Given the description of an element on the screen output the (x, y) to click on. 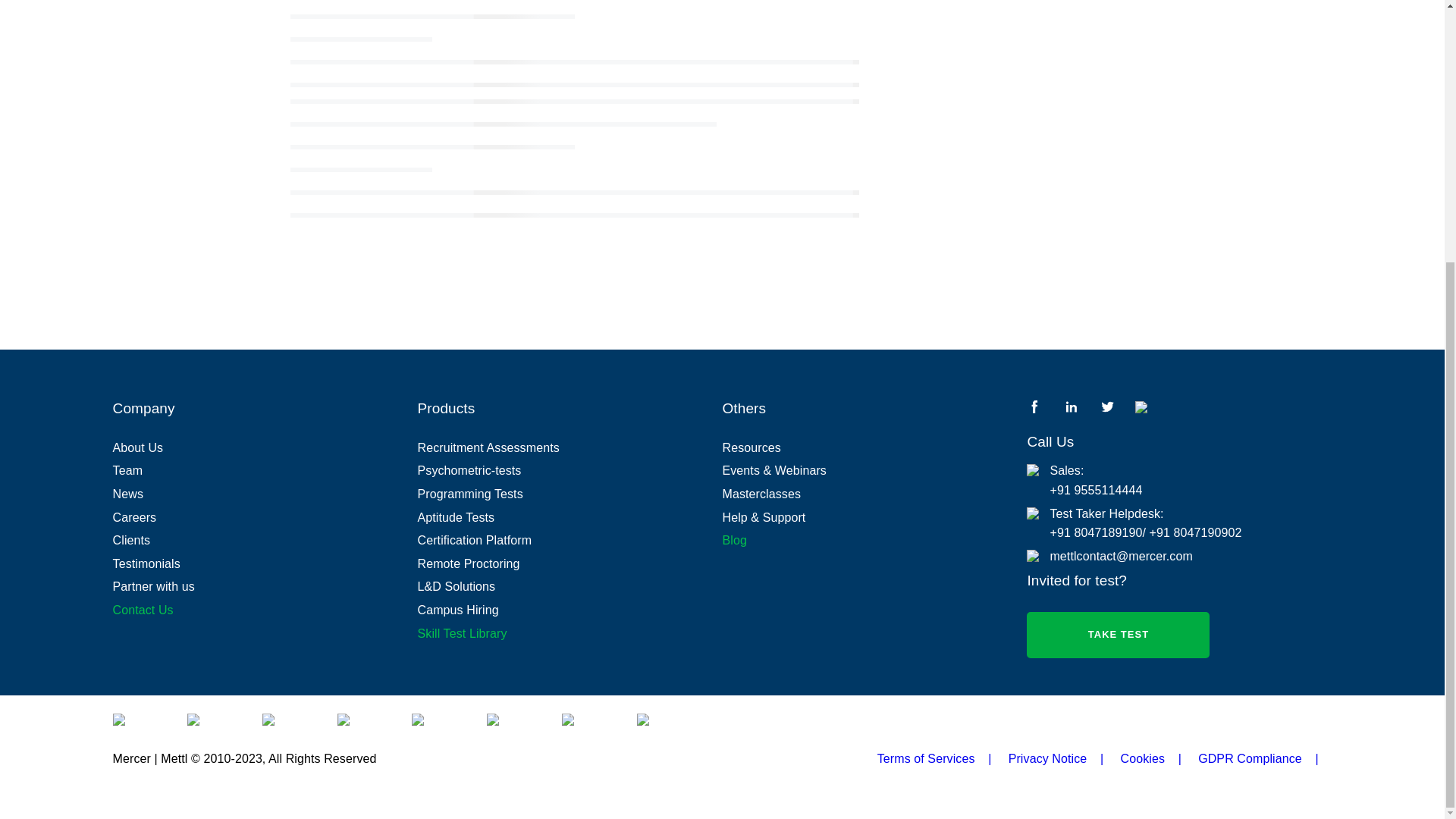
TAKE TEST (1117, 634)
Testimonials (265, 564)
Masterclasses (874, 494)
About Us (265, 447)
Psychometric-tests (569, 470)
Recruitment Assessments (569, 447)
Programming Tests (569, 494)
Partner with us (265, 587)
Campus Hiring (569, 609)
Aptitude Tests (569, 517)
Team (265, 470)
Contact Us (265, 609)
Careers (265, 517)
Blog (874, 540)
Certification Platform (569, 540)
